Given the description of an element on the screen output the (x, y) to click on. 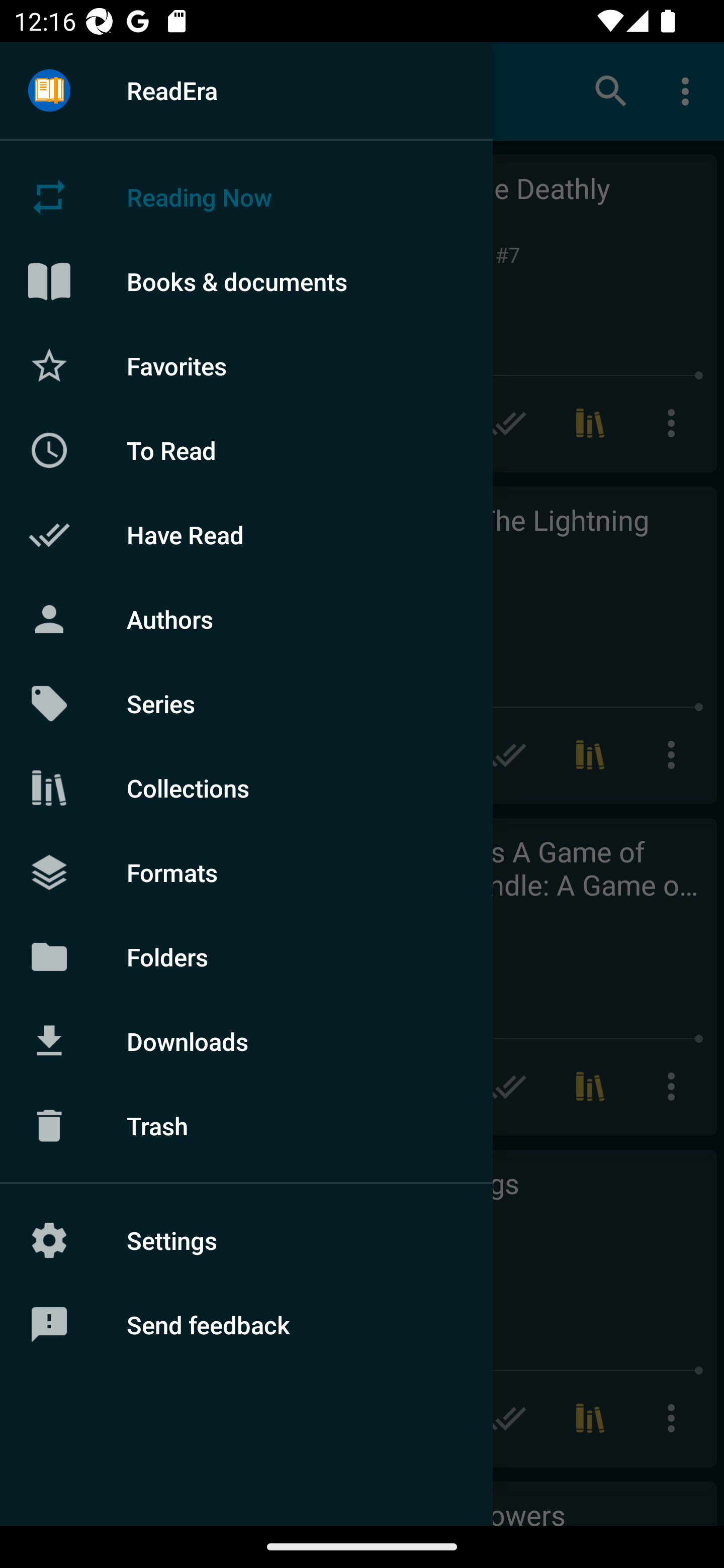
Menu (49, 91)
ReadEra (246, 89)
Search books & documents (611, 90)
More options (688, 90)
Reading Now (246, 197)
Books & documents (246, 281)
Favorites (246, 365)
To Read (246, 449)
Have Read (246, 534)
Authors (246, 619)
Series (246, 703)
Collections (246, 787)
Formats (246, 871)
Folders (246, 956)
Downloads (246, 1040)
Trash (246, 1125)
Settings (246, 1239)
Send feedback (246, 1324)
